Given the description of an element on the screen output the (x, y) to click on. 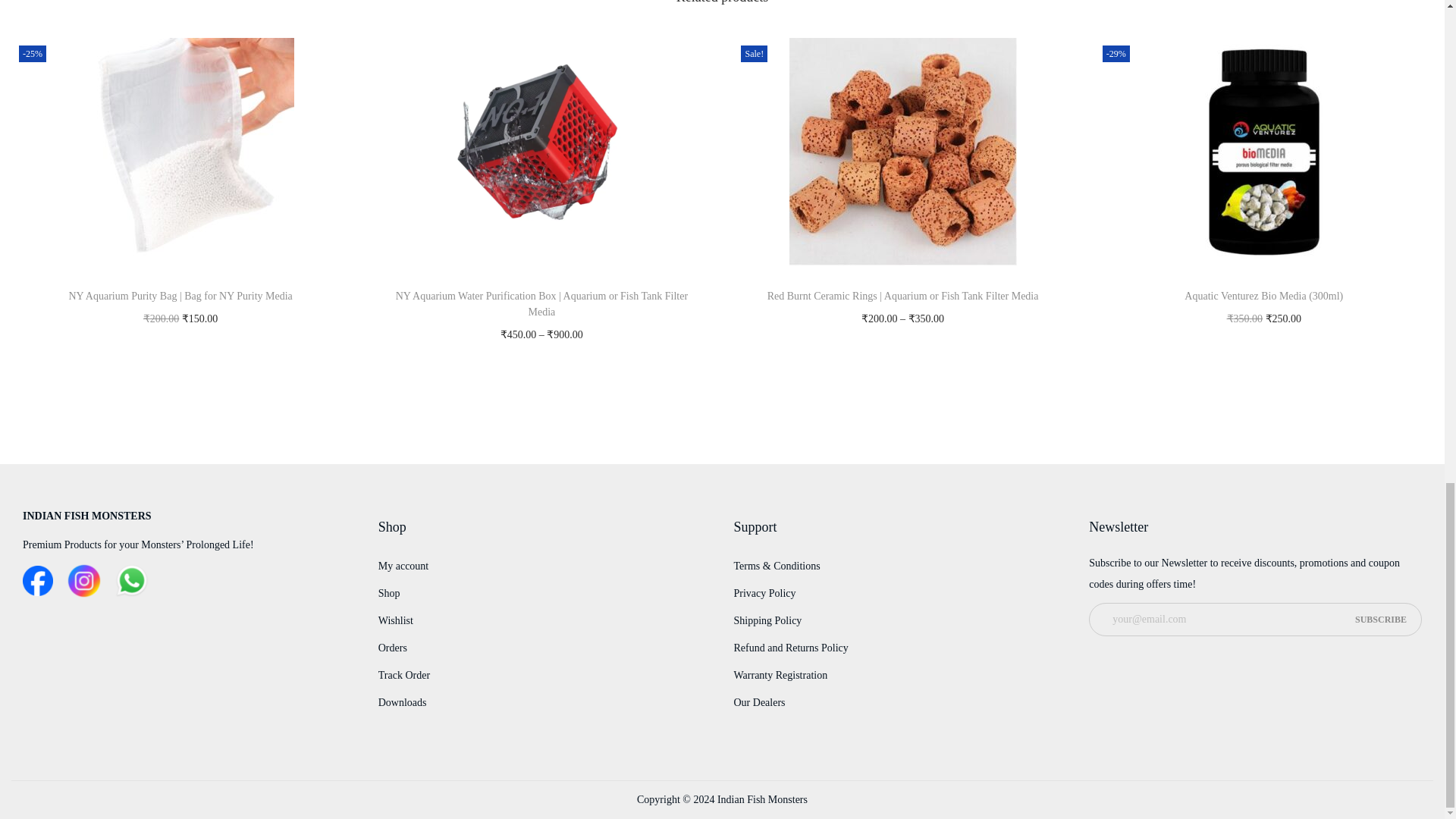
Subscribe (1380, 619)
